Given the description of an element on the screen output the (x, y) to click on. 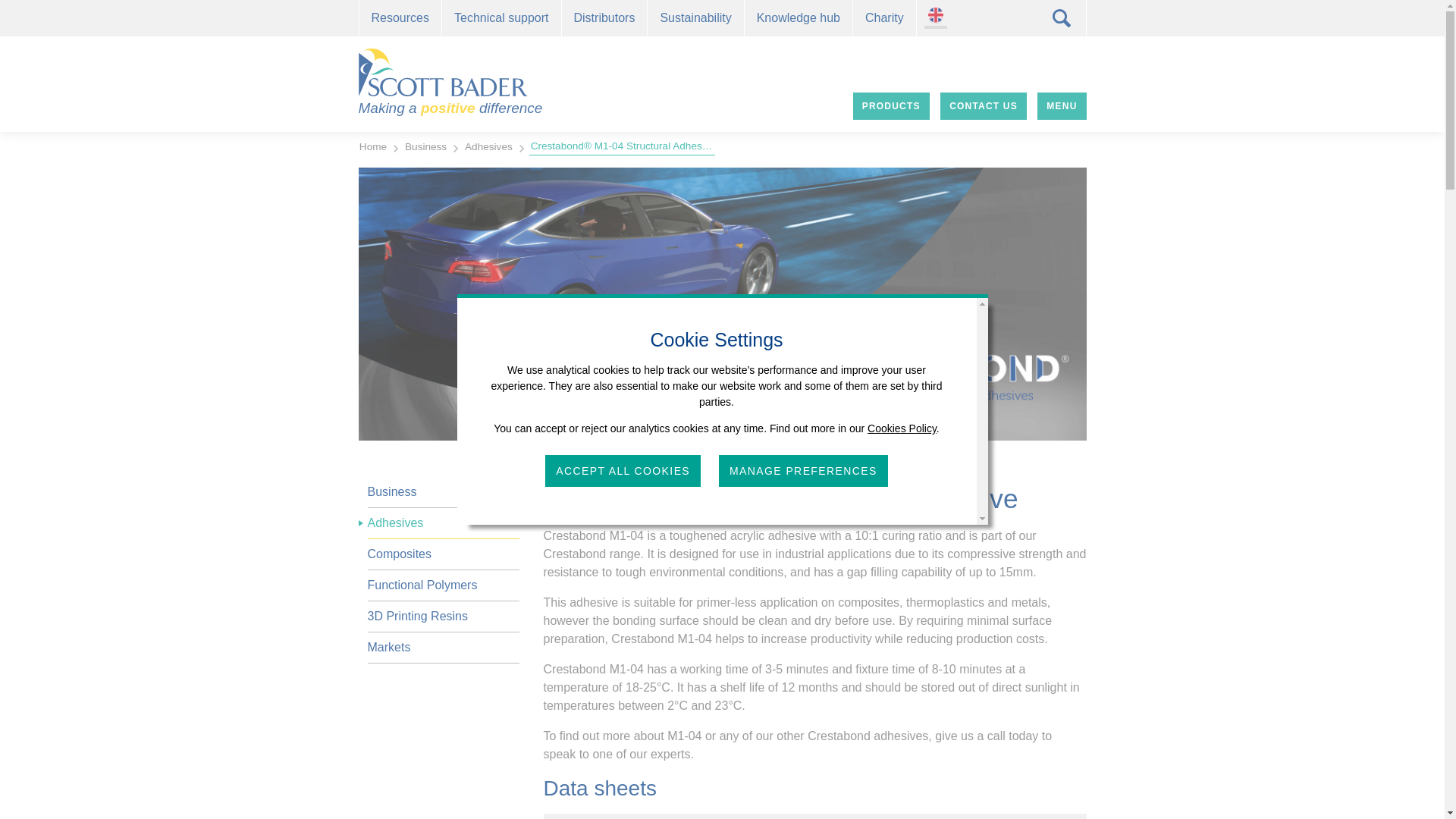
CONTACT US (983, 105)
PRODUCTS (891, 105)
Making a positive difference (449, 83)
